Given the description of an element on the screen output the (x, y) to click on. 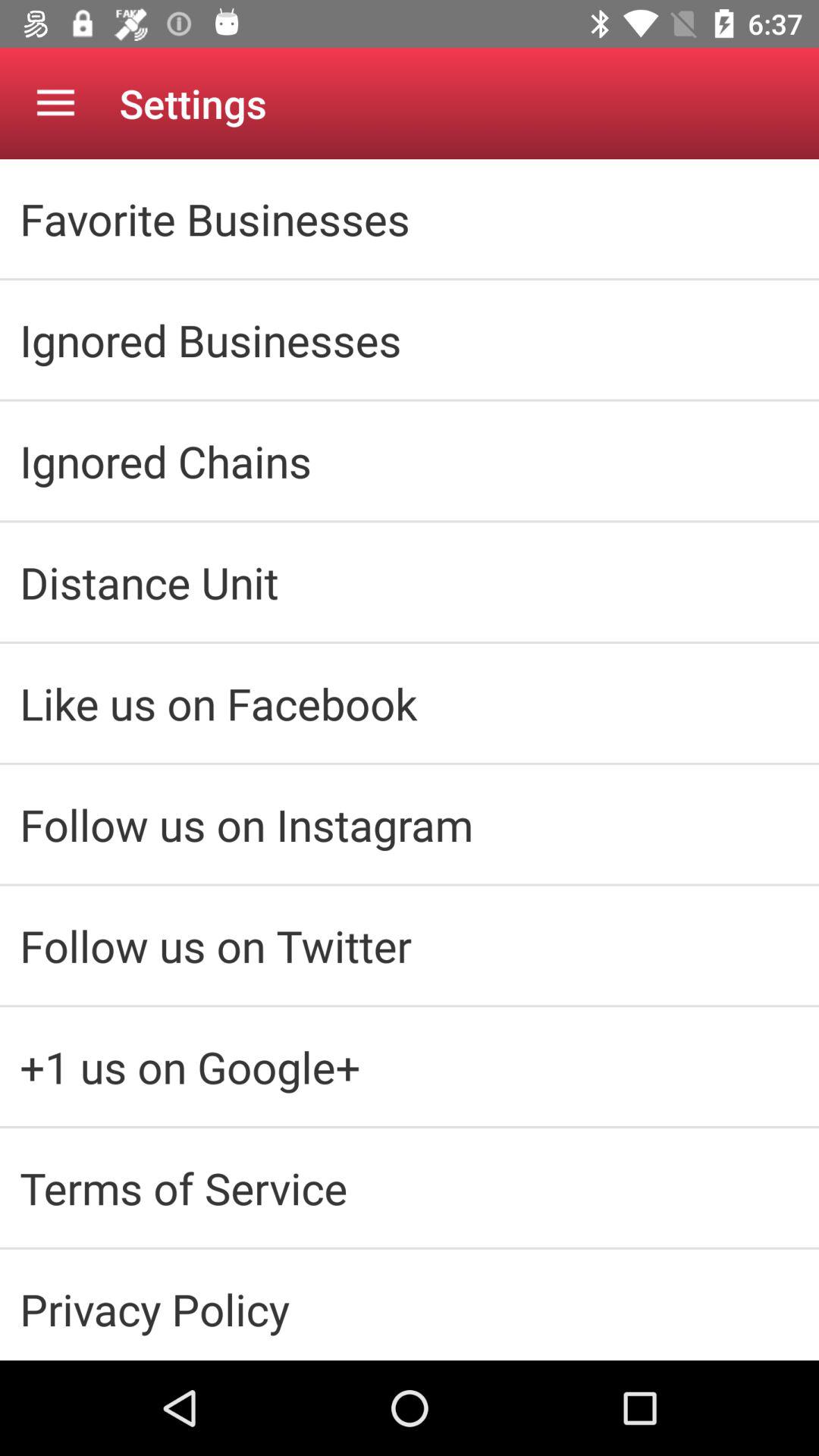
click the icon to the left of the settings (55, 103)
